Given the description of an element on the screen output the (x, y) to click on. 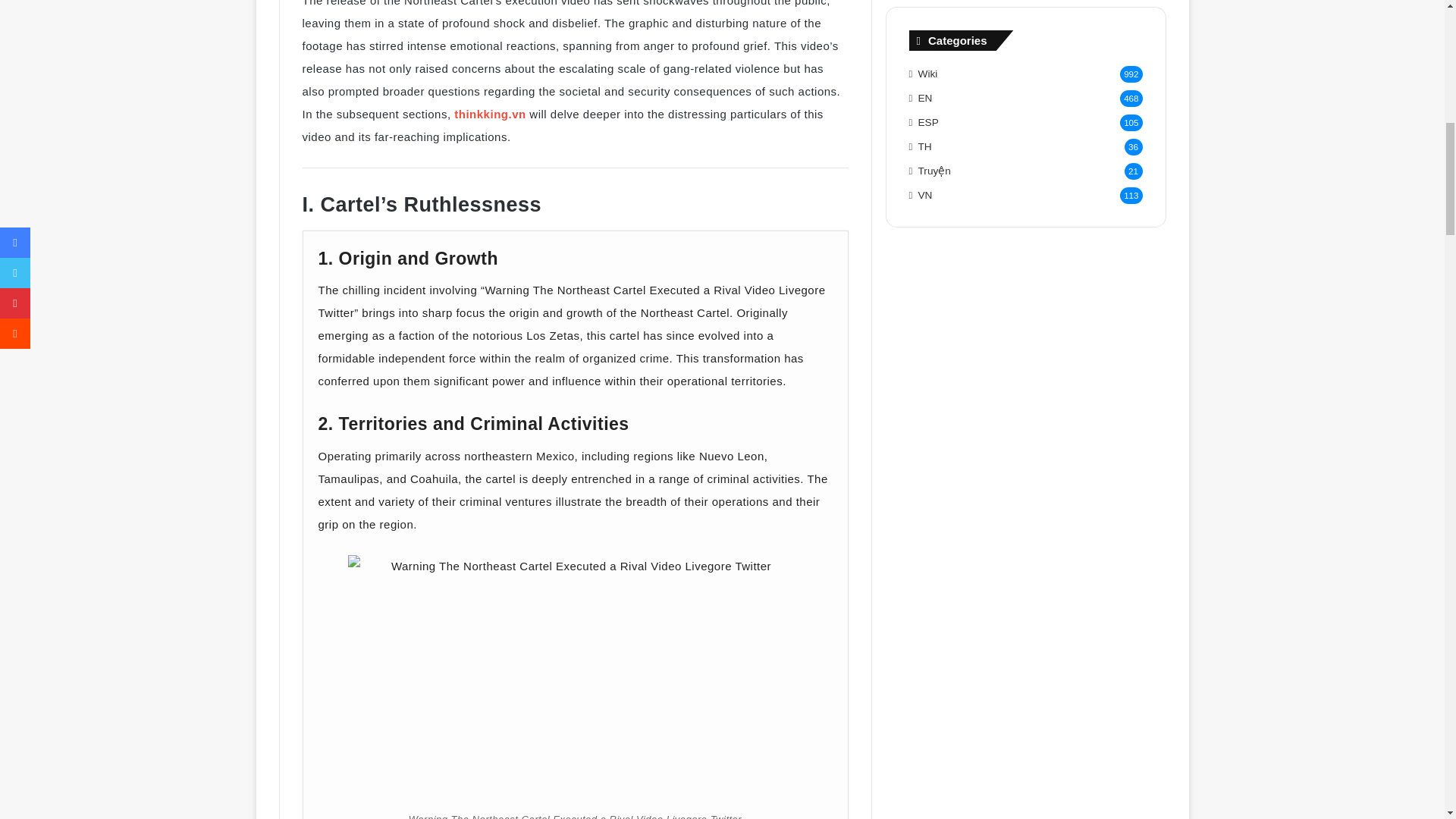
thinkking.vn (488, 113)
